Given the description of an element on the screen output the (x, y) to click on. 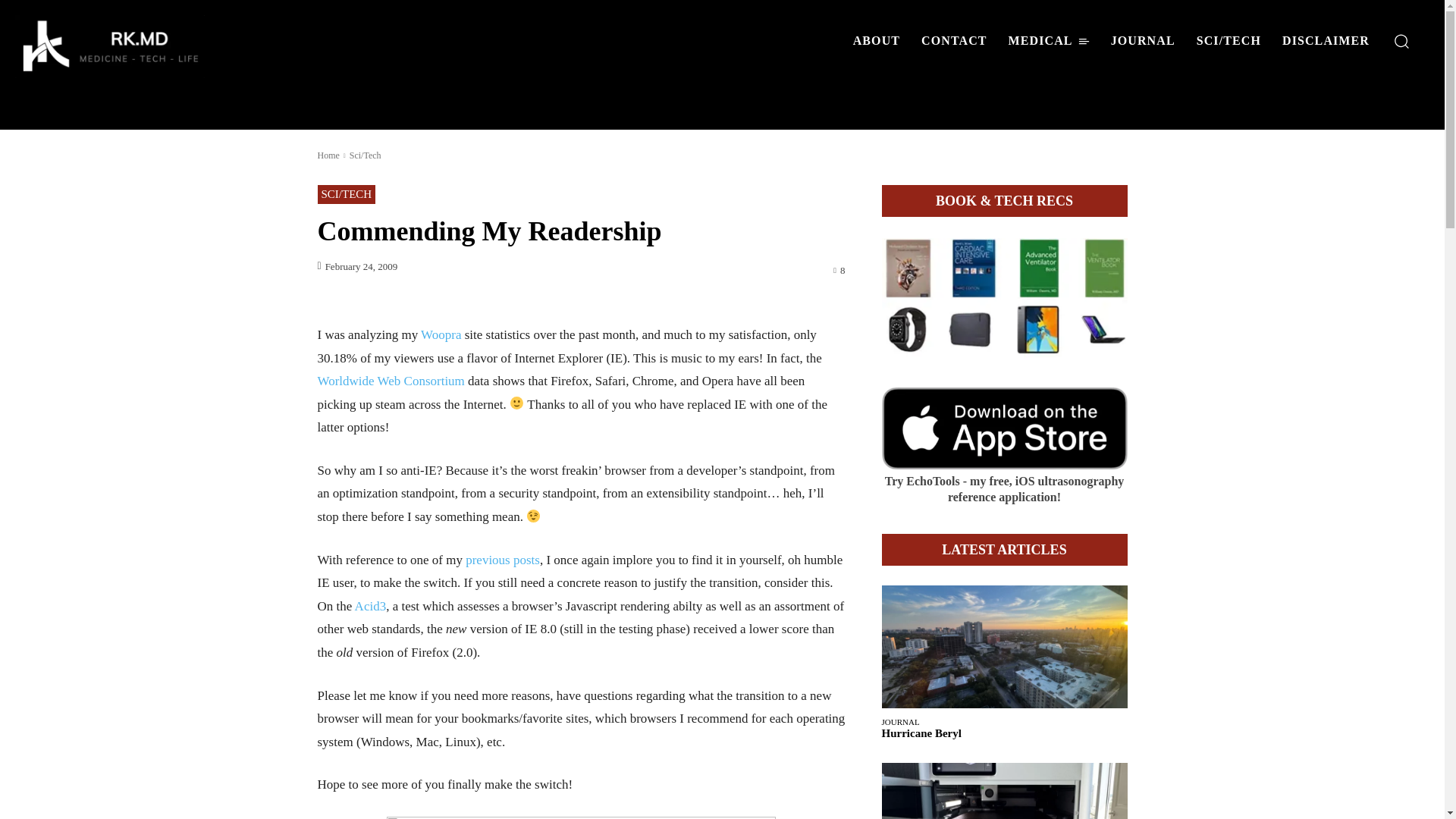
CONTACT (954, 40)
ABOUT (877, 40)
MEDICAL (1048, 40)
